Given the description of an element on the screen output the (x, y) to click on. 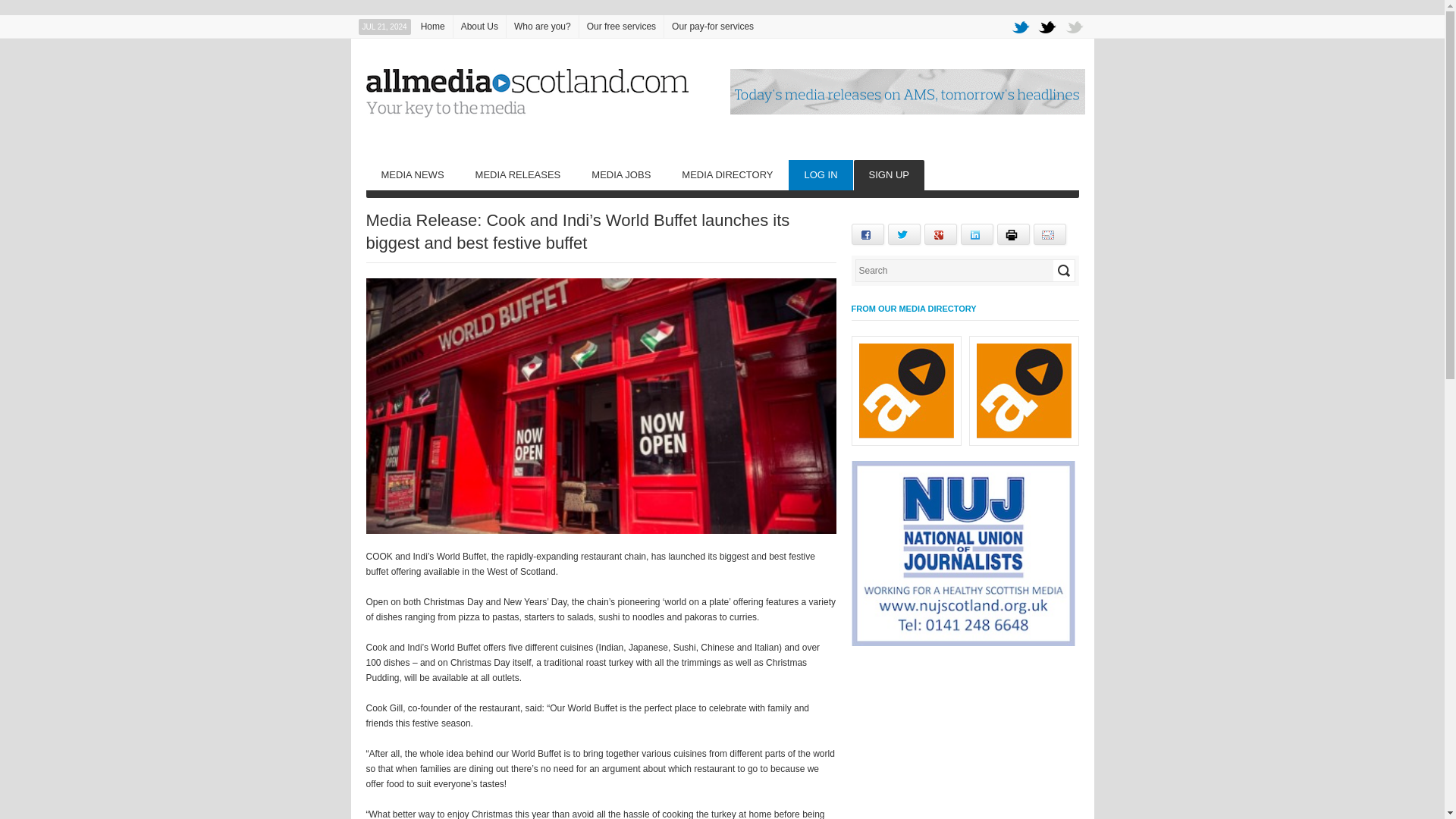
Our free services (621, 26)
About Us (478, 26)
MEDIA RELEASES (518, 174)
media release service, media release distribution (518, 174)
Our pay-for services (712, 26)
Home (432, 26)
MEDIA NEWS (411, 174)
Search (1063, 270)
Who are you? (542, 26)
MEDIA JOBS (620, 174)
Media jobs, media careers, jobs in the media (620, 174)
